Given the description of an element on the screen output the (x, y) to click on. 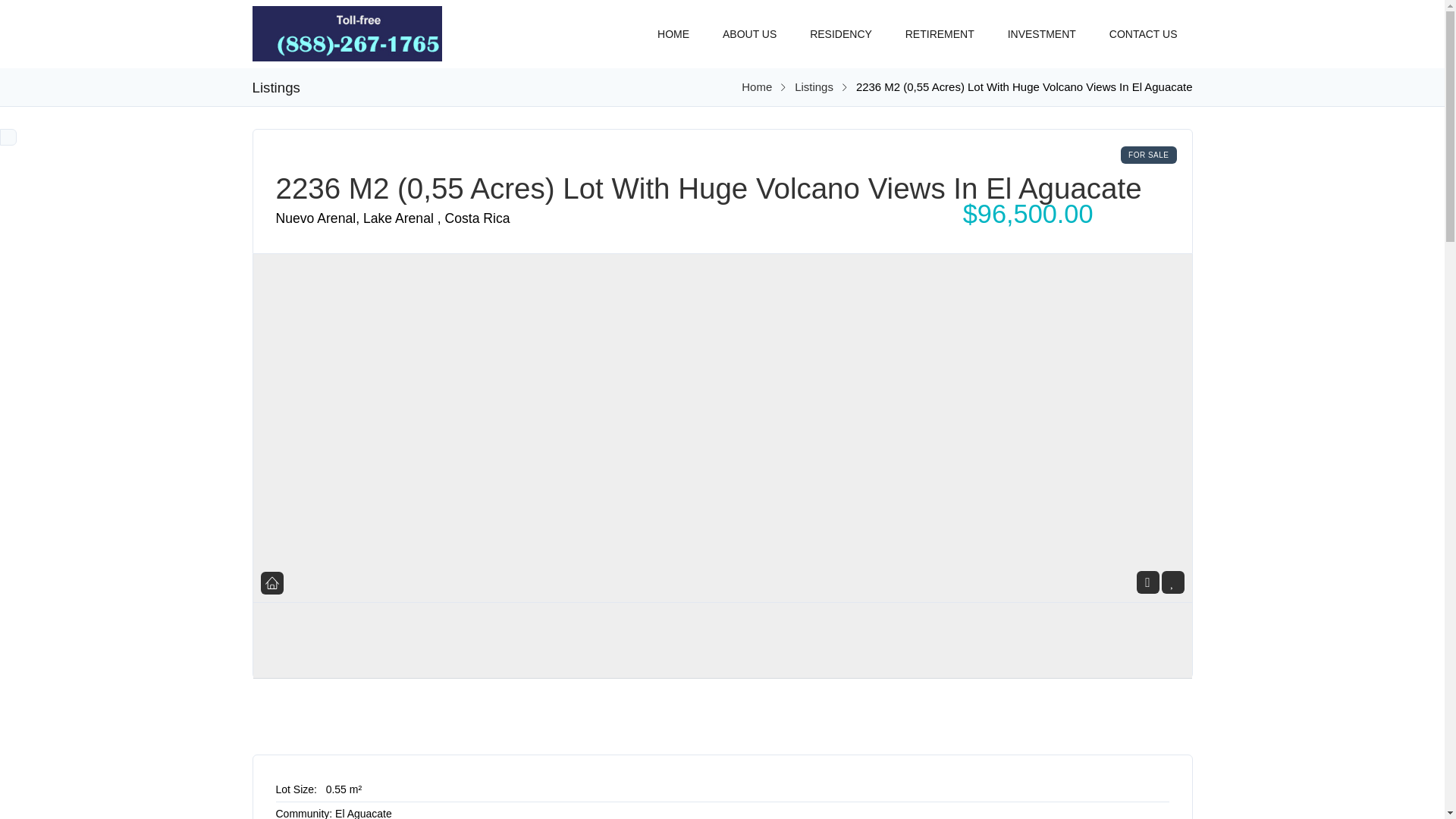
RETIREMENT (939, 26)
HOME (673, 26)
ABOUT US (749, 26)
RESIDENCY (840, 26)
Listings (813, 86)
INVESTMENT (1041, 26)
Costa Rica Retirement Vacation Properties (756, 86)
CONTACT US (1143, 26)
Home (756, 86)
